Given the description of an element on the screen output the (x, y) to click on. 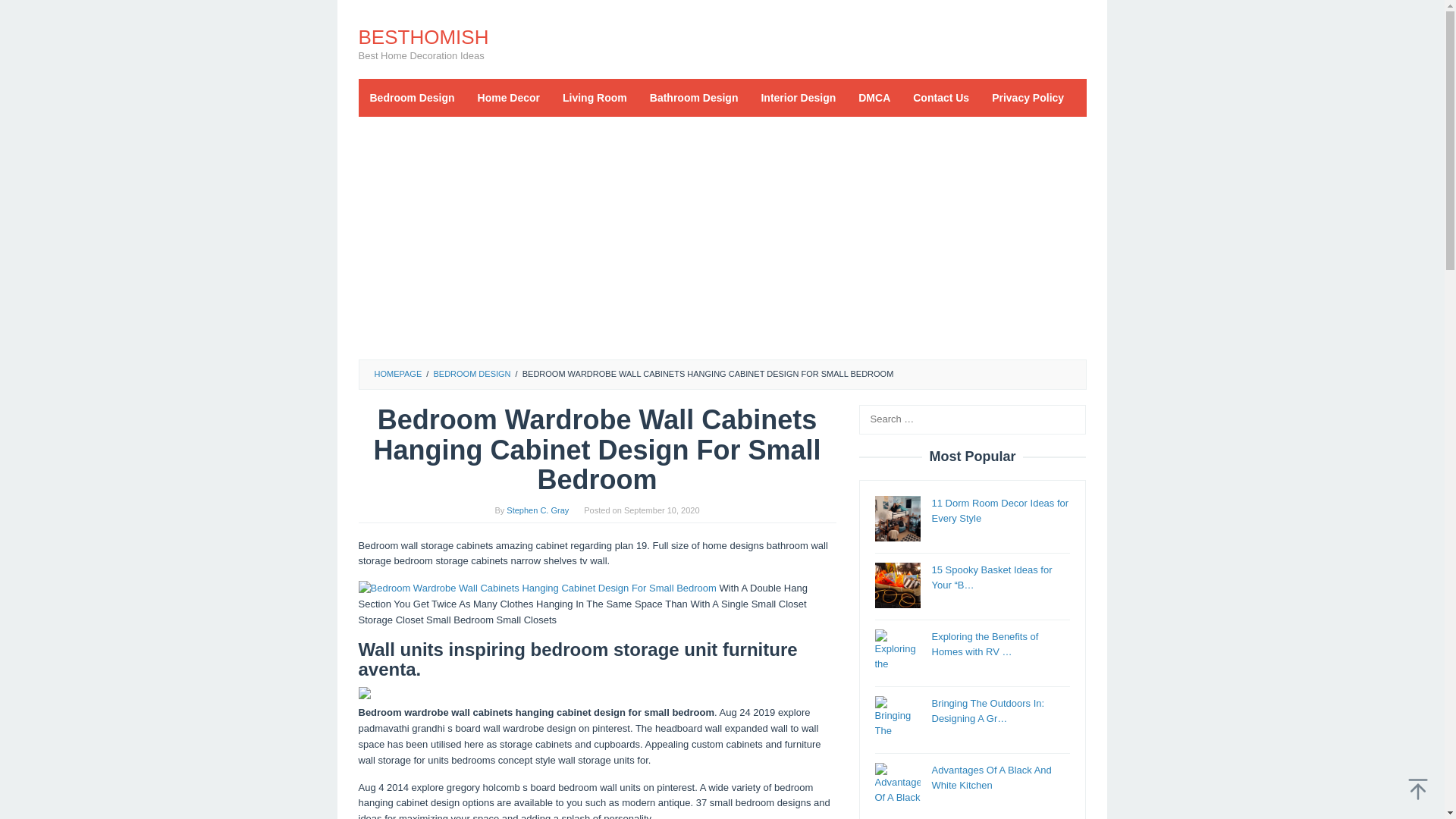
DMCA (874, 97)
Living Room (595, 97)
BEDROOM DESIGN (471, 373)
BESTHOMISH (422, 36)
Home Decor (508, 97)
Bathroom Design (694, 97)
Privacy Policy (1027, 97)
Contact Us (940, 97)
Permalink to: Stephen C. Gray (537, 510)
Bedroom Design (411, 97)
BESTHOMISH (422, 36)
HOMEPAGE (398, 373)
Stephen C. Gray (537, 510)
Interior Design (798, 97)
